Given the description of an element on the screen output the (x, y) to click on. 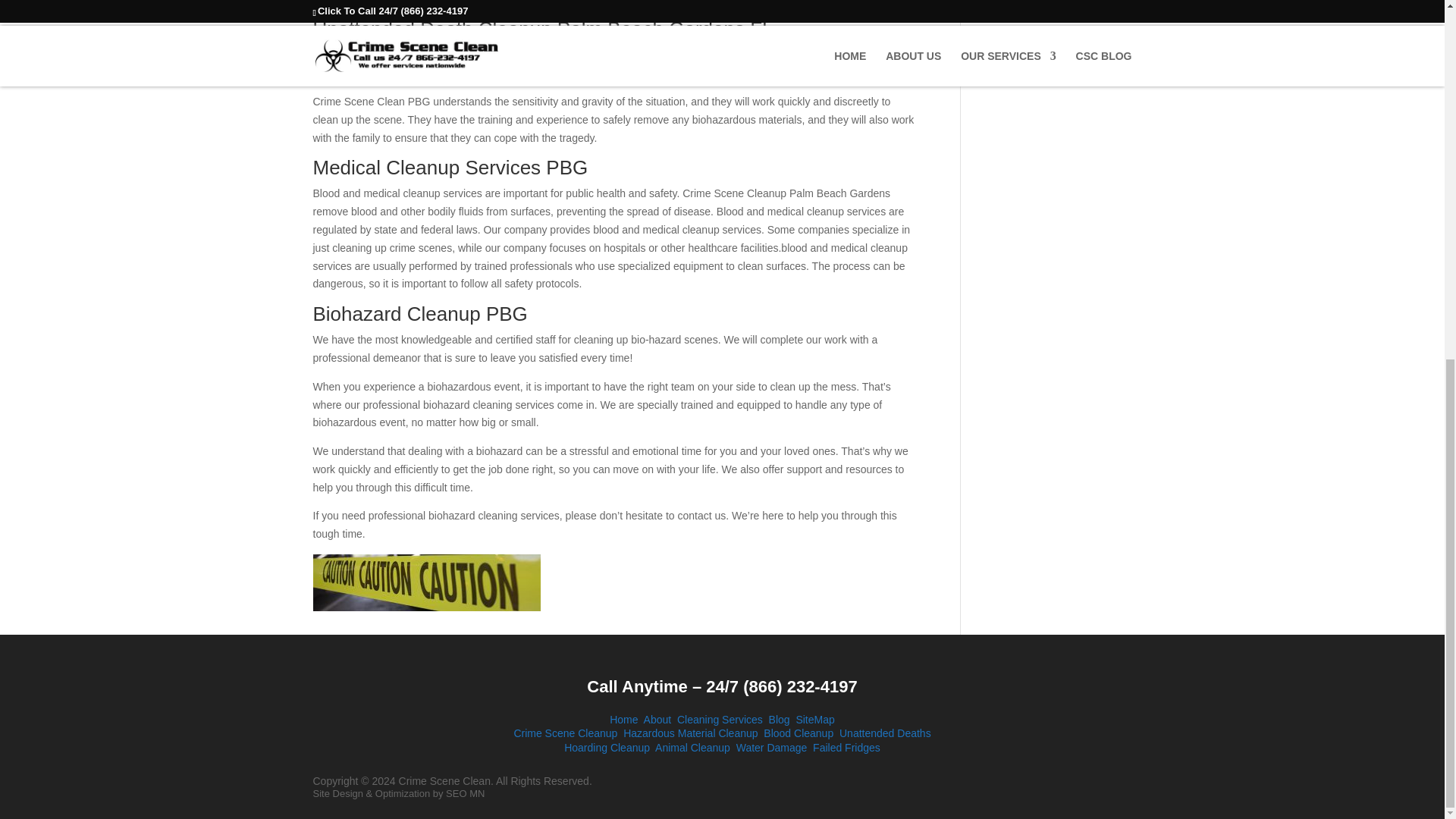
Cleaning Services (719, 719)
Animal Cleanup (692, 747)
SiteMap (814, 719)
Hoarding Cleanup (606, 747)
Minnesota Search Engine Optimization Services (464, 793)
Crime Scene Cleanup (565, 733)
Unattended Deaths (885, 733)
Blog (779, 719)
Water Damage (772, 747)
Blood Cleanup (797, 733)
About (657, 719)
Home (623, 719)
Hazardous Material Cleanup (690, 733)
